Given the description of an element on the screen output the (x, y) to click on. 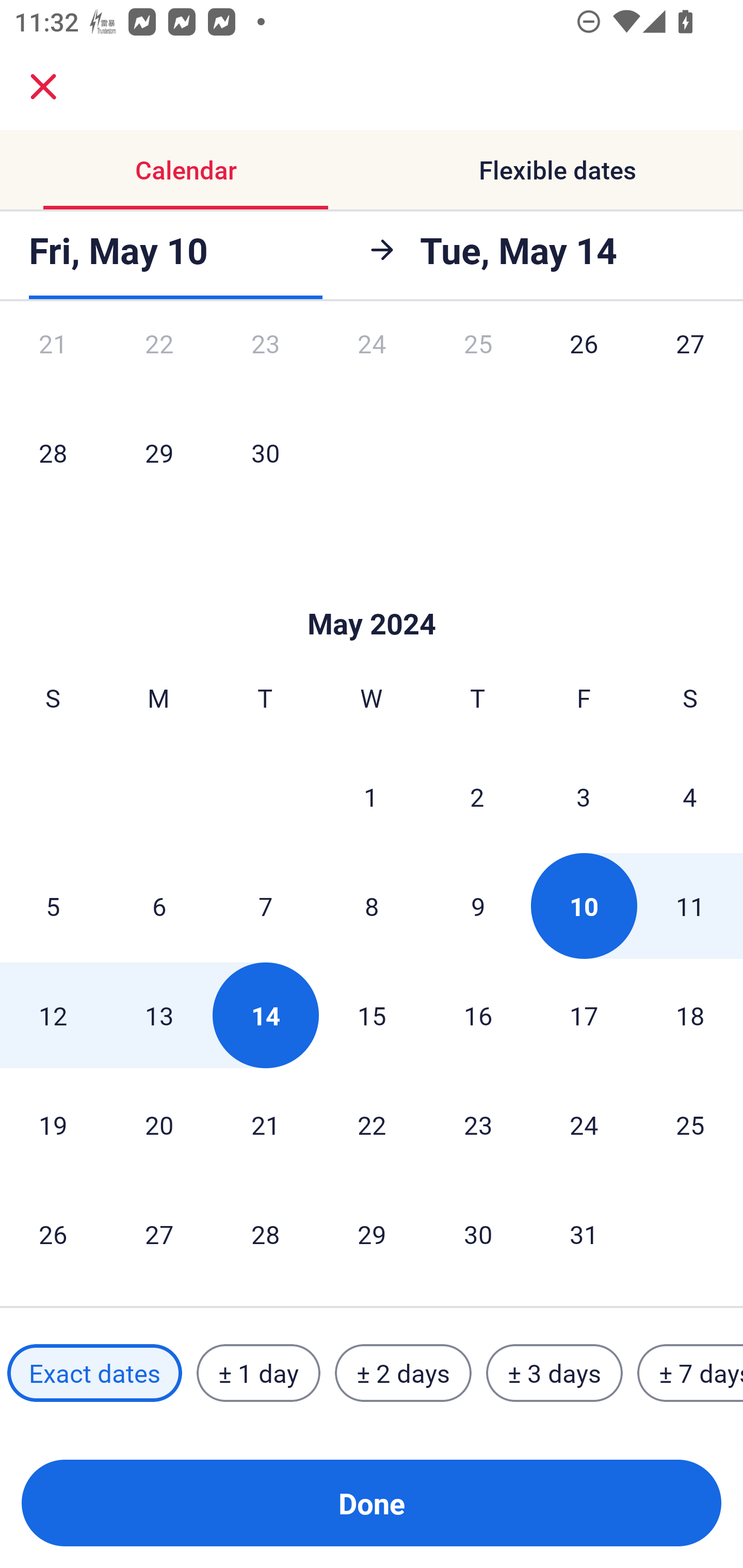
close. (43, 86)
Flexible dates (557, 170)
21 Sunday, April 21, 2024 (53, 363)
22 Monday, April 22, 2024 (159, 363)
23 Tuesday, April 23, 2024 (265, 363)
24 Wednesday, April 24, 2024 (371, 363)
25 Thursday, April 25, 2024 (477, 363)
26 Friday, April 26, 2024 (584, 363)
27 Saturday, April 27, 2024 (690, 363)
28 Sunday, April 28, 2024 (53, 451)
29 Monday, April 29, 2024 (159, 451)
30 Tuesday, April 30, 2024 (265, 451)
Skip to Done (371, 593)
1 Wednesday, May 1, 2024 (371, 796)
2 Thursday, May 2, 2024 (477, 796)
3 Friday, May 3, 2024 (583, 796)
4 Saturday, May 4, 2024 (689, 796)
5 Sunday, May 5, 2024 (53, 905)
6 Monday, May 6, 2024 (159, 905)
7 Tuesday, May 7, 2024 (265, 905)
8 Wednesday, May 8, 2024 (371, 905)
9 Thursday, May 9, 2024 (477, 905)
15 Wednesday, May 15, 2024 (371, 1014)
16 Thursday, May 16, 2024 (477, 1014)
17 Friday, May 17, 2024 (584, 1014)
18 Saturday, May 18, 2024 (690, 1014)
19 Sunday, May 19, 2024 (53, 1124)
20 Monday, May 20, 2024 (159, 1124)
21 Tuesday, May 21, 2024 (265, 1124)
22 Wednesday, May 22, 2024 (371, 1124)
23 Thursday, May 23, 2024 (477, 1124)
24 Friday, May 24, 2024 (584, 1124)
25 Saturday, May 25, 2024 (690, 1124)
26 Sunday, May 26, 2024 (53, 1233)
27 Monday, May 27, 2024 (159, 1233)
28 Tuesday, May 28, 2024 (265, 1233)
29 Wednesday, May 29, 2024 (371, 1233)
30 Thursday, May 30, 2024 (477, 1233)
31 Friday, May 31, 2024 (584, 1233)
Exact dates (94, 1372)
± 1 day (258, 1372)
± 2 days (403, 1372)
± 3 days (553, 1372)
± 7 days (690, 1372)
Done (371, 1502)
